Given the description of an element on the screen output the (x, y) to click on. 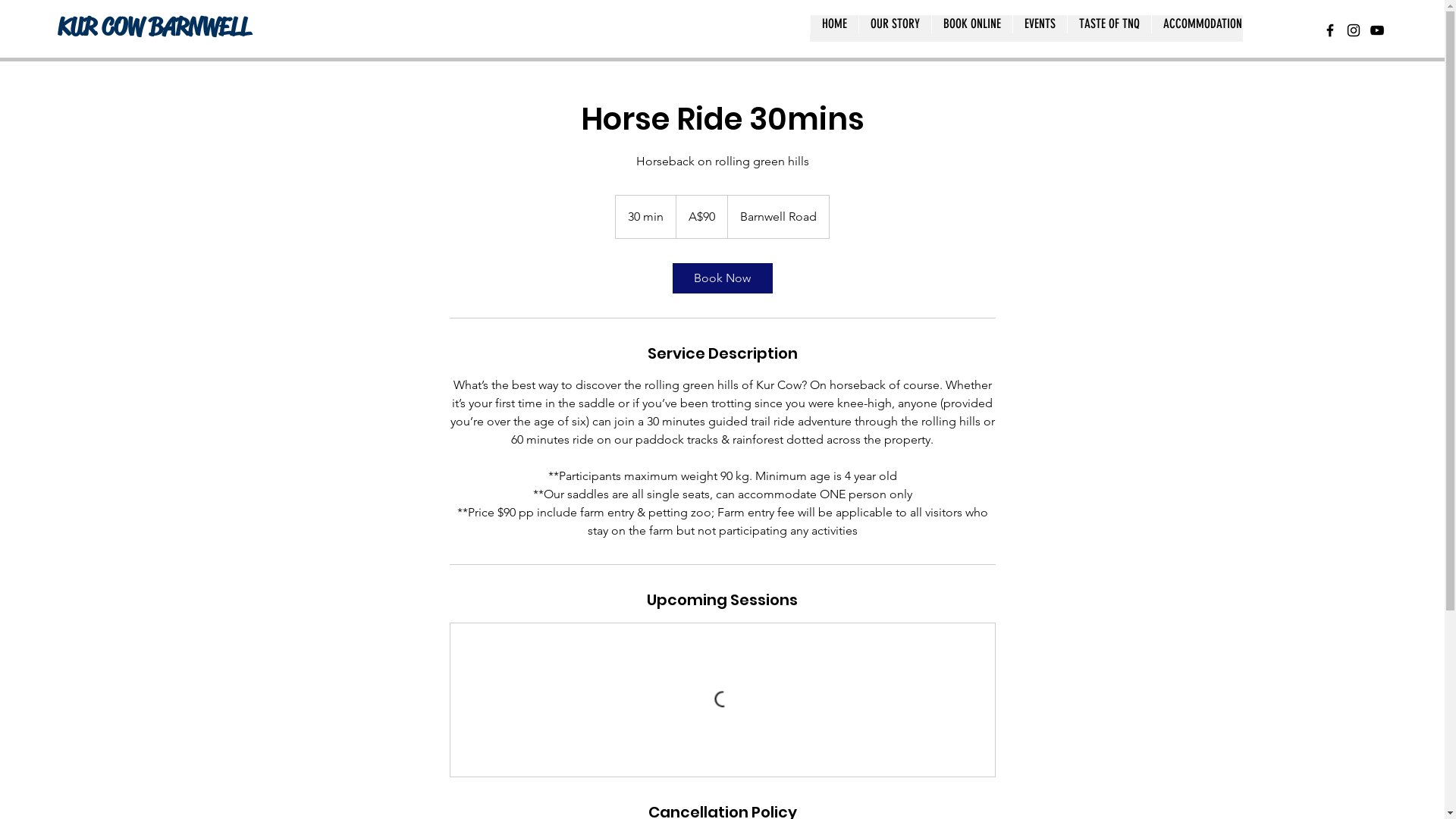
ACCOMMODATION Element type: text (1202, 28)
BOOK ONLINE Element type: text (971, 28)
TASTE OF TNQ Element type: text (1108, 28)
Book Now Element type: text (721, 278)
HOME Element type: text (833, 28)
OUR STORY Element type: text (894, 28)
EVENTS Element type: text (1039, 28)
